Given the description of an element on the screen output the (x, y) to click on. 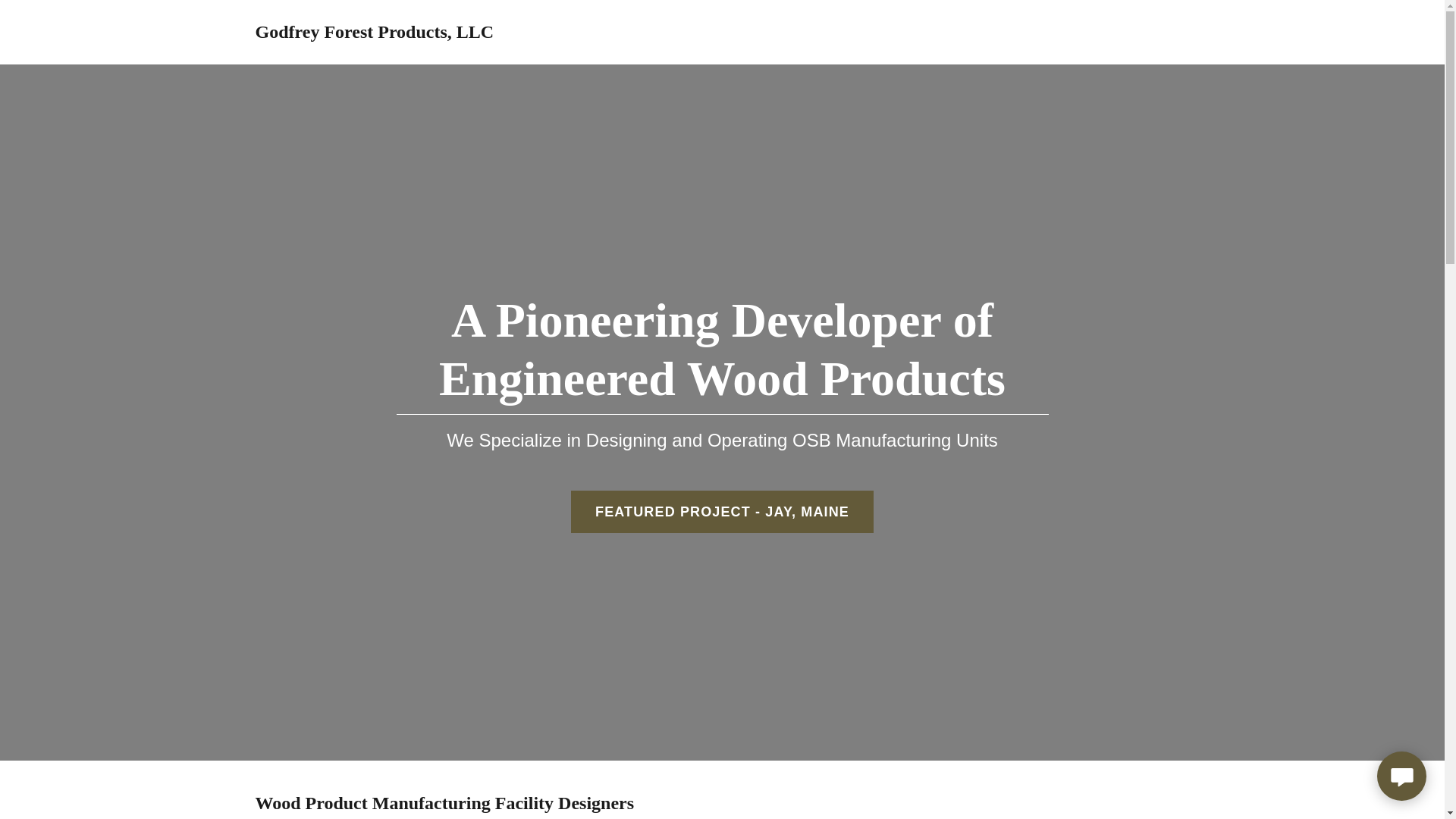
Godfrey Forest Products, LLC (373, 32)
Godfrey Forest Products, LLC (373, 32)
FEATURED PROJECT - JAY, MAINE (721, 511)
